Given the description of an element on the screen output the (x, y) to click on. 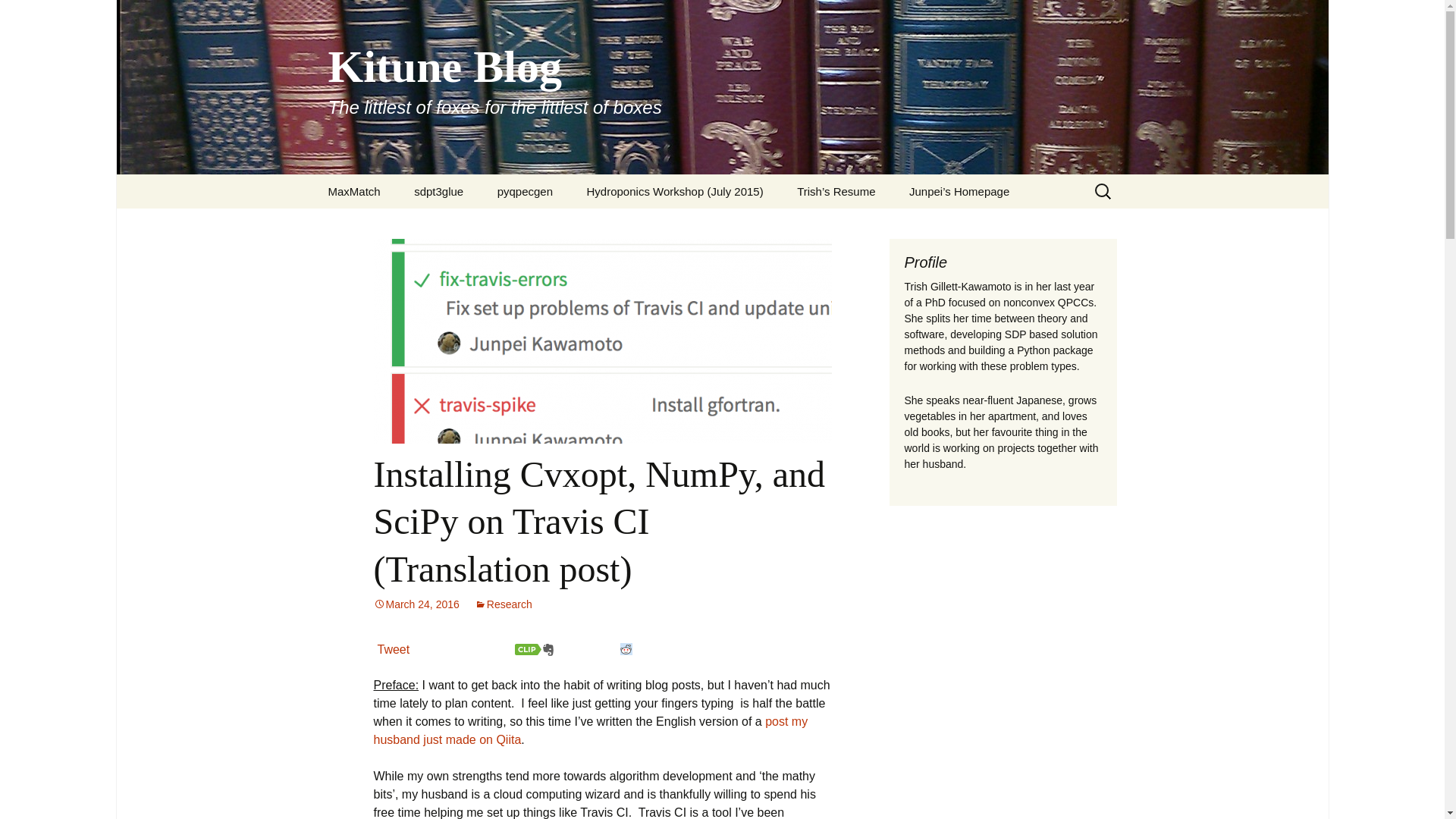
Research (503, 604)
pyqpecgen (524, 191)
March 24, 2016 (415, 604)
Search (34, 15)
MaxMatch (438, 191)
Kitune Blog (353, 191)
post my husband just made on Qiita (625, 649)
Tweet (590, 730)
Share on reddit (393, 649)
Search (625, 648)
